Given the description of an element on the screen output the (x, y) to click on. 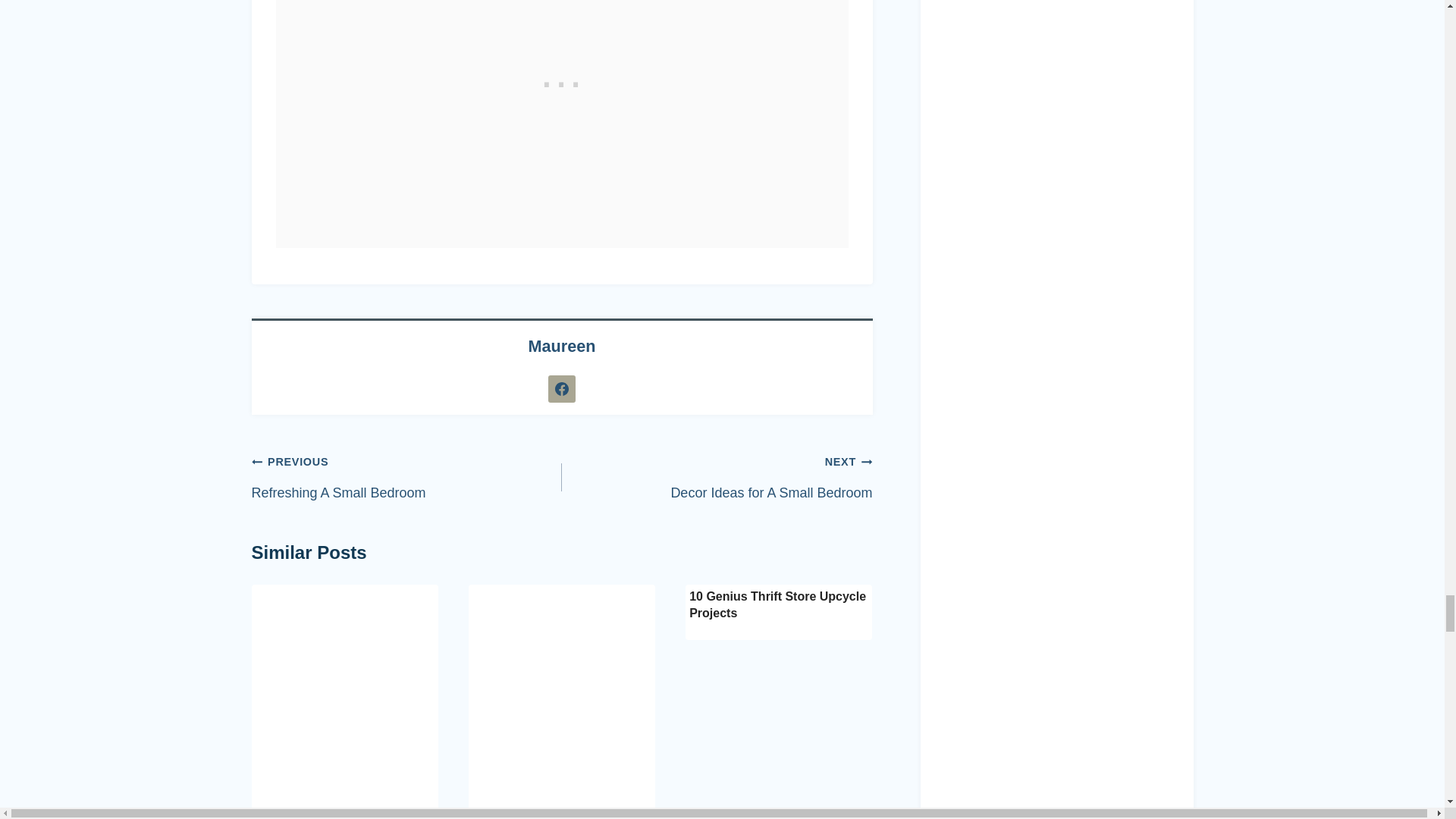
Follow Maureen on Facebook (561, 388)
Posts by Maureen (561, 345)
